Given the description of an element on the screen output the (x, y) to click on. 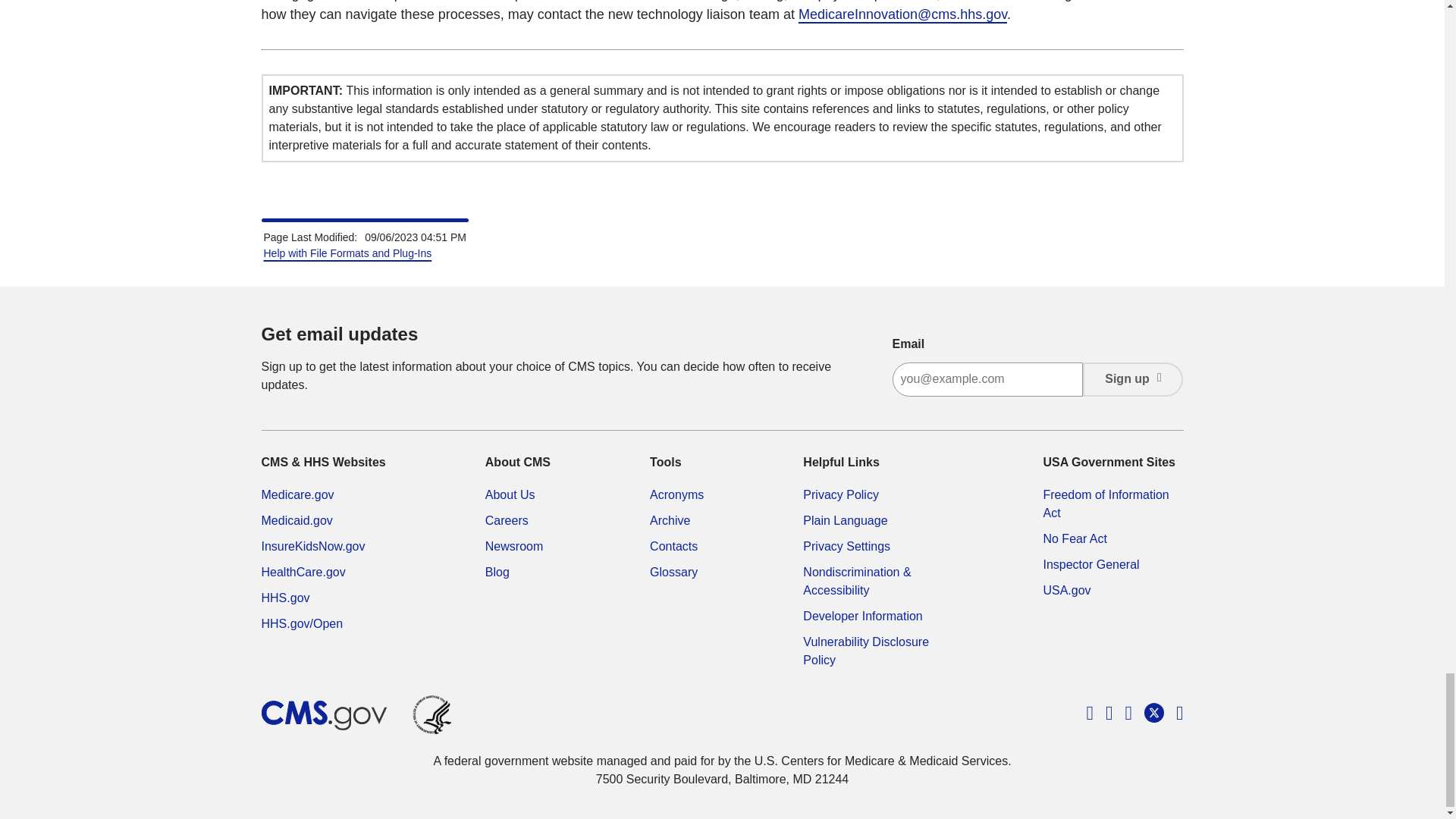
Medicaid.gov (295, 520)
Medicare.gov (296, 494)
Help with File Formats and Plug-Ins (347, 253)
HHS.gov (284, 597)
Newsroom (513, 545)
About CMS (509, 494)
Archive (669, 520)
HealthCare.gov (302, 571)
InsureKidsNow.gov (312, 545)
Acronyms (676, 494)
